Given the description of an element on the screen output the (x, y) to click on. 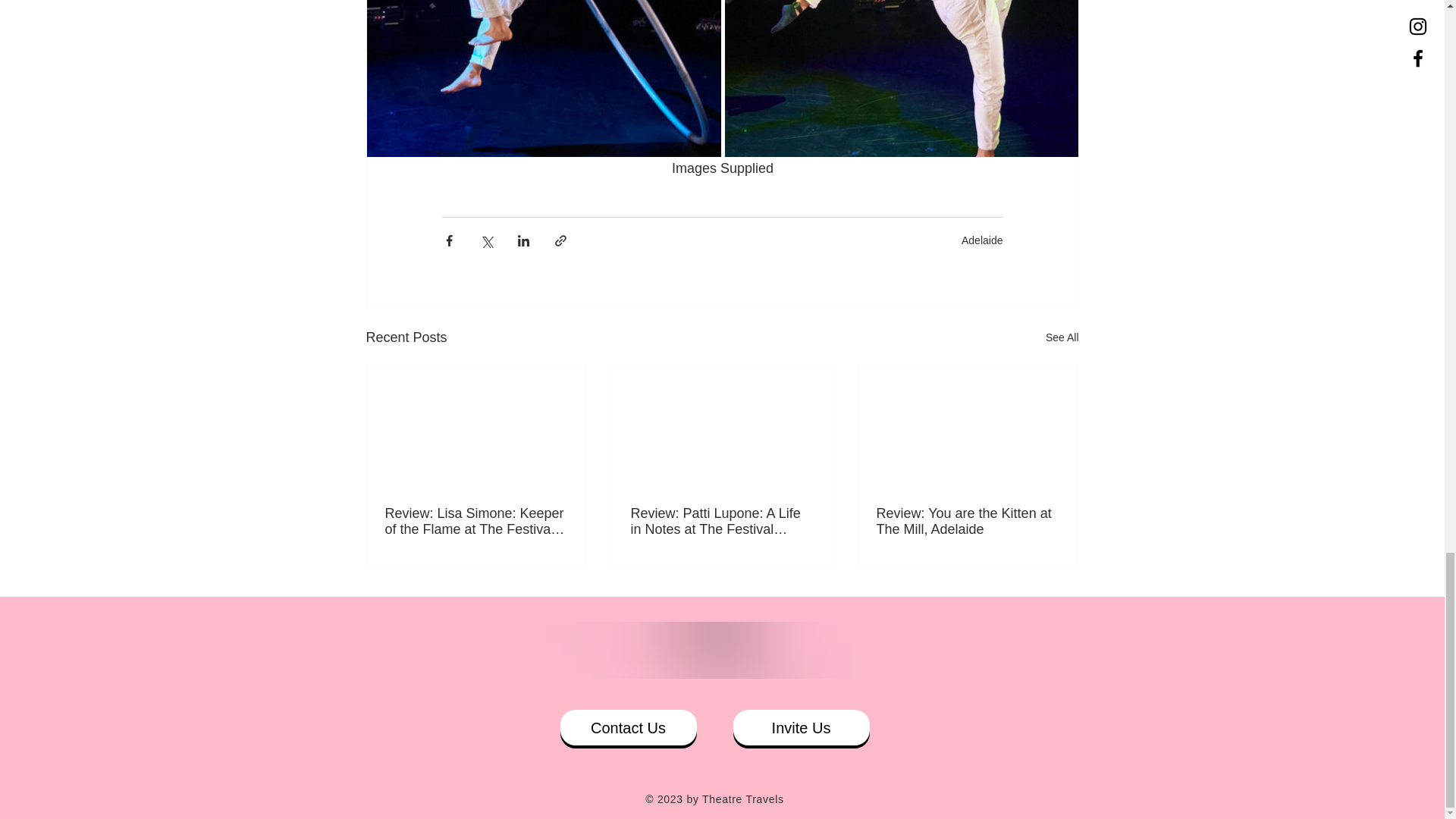
Review: You are the Kitten at The Mill, Adelaide  (967, 521)
Contact Us (627, 727)
Adelaide (981, 240)
Invite Us (800, 727)
See All (1061, 337)
